Given the description of an element on the screen output the (x, y) to click on. 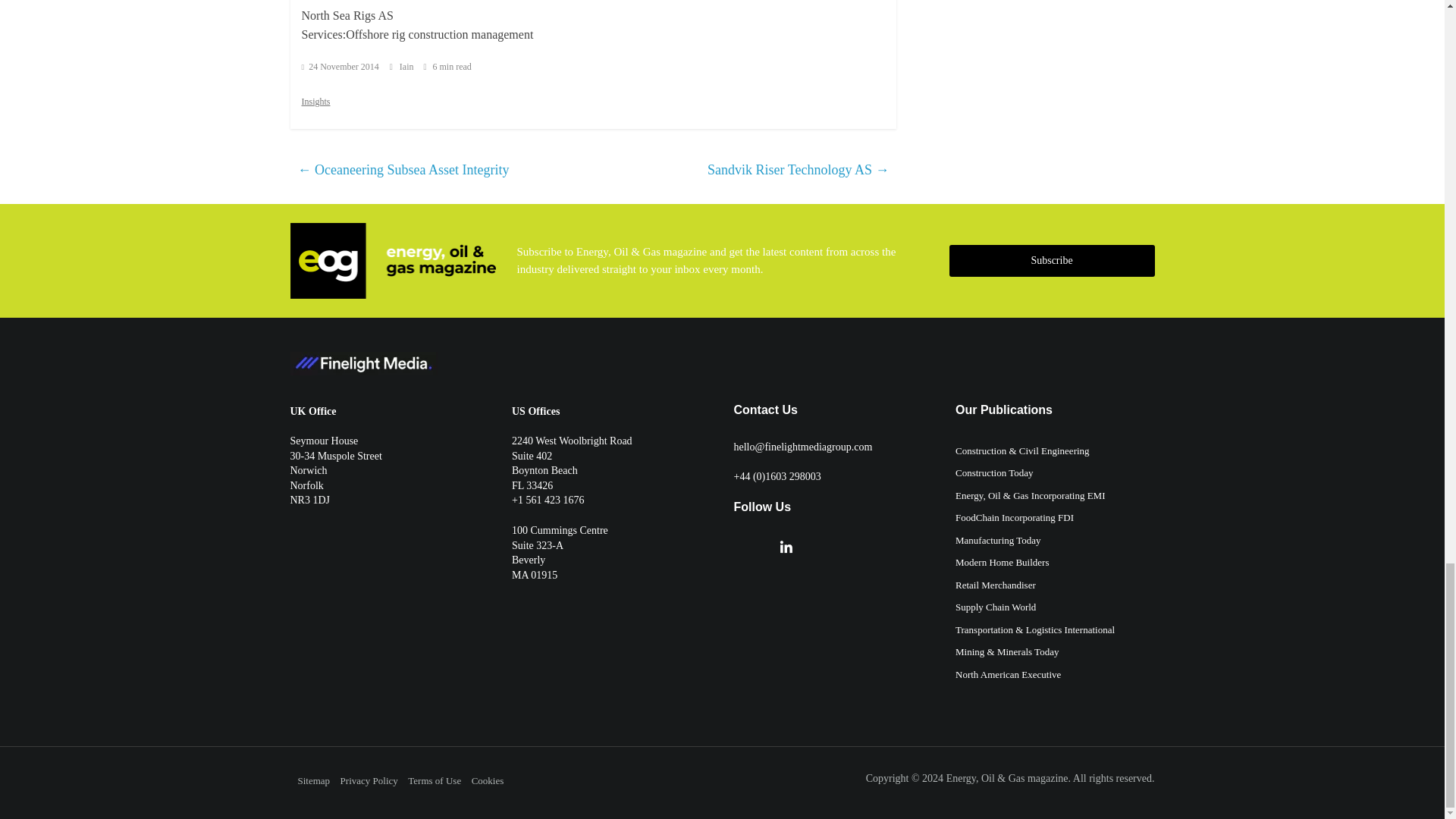
24 November 2014 (339, 66)
1:15 pm (339, 66)
Subscribe (1051, 260)
Insights (315, 101)
Iain (407, 66)
Twitter (739, 546)
Iain (407, 66)
